Given the description of an element on the screen output the (x, y) to click on. 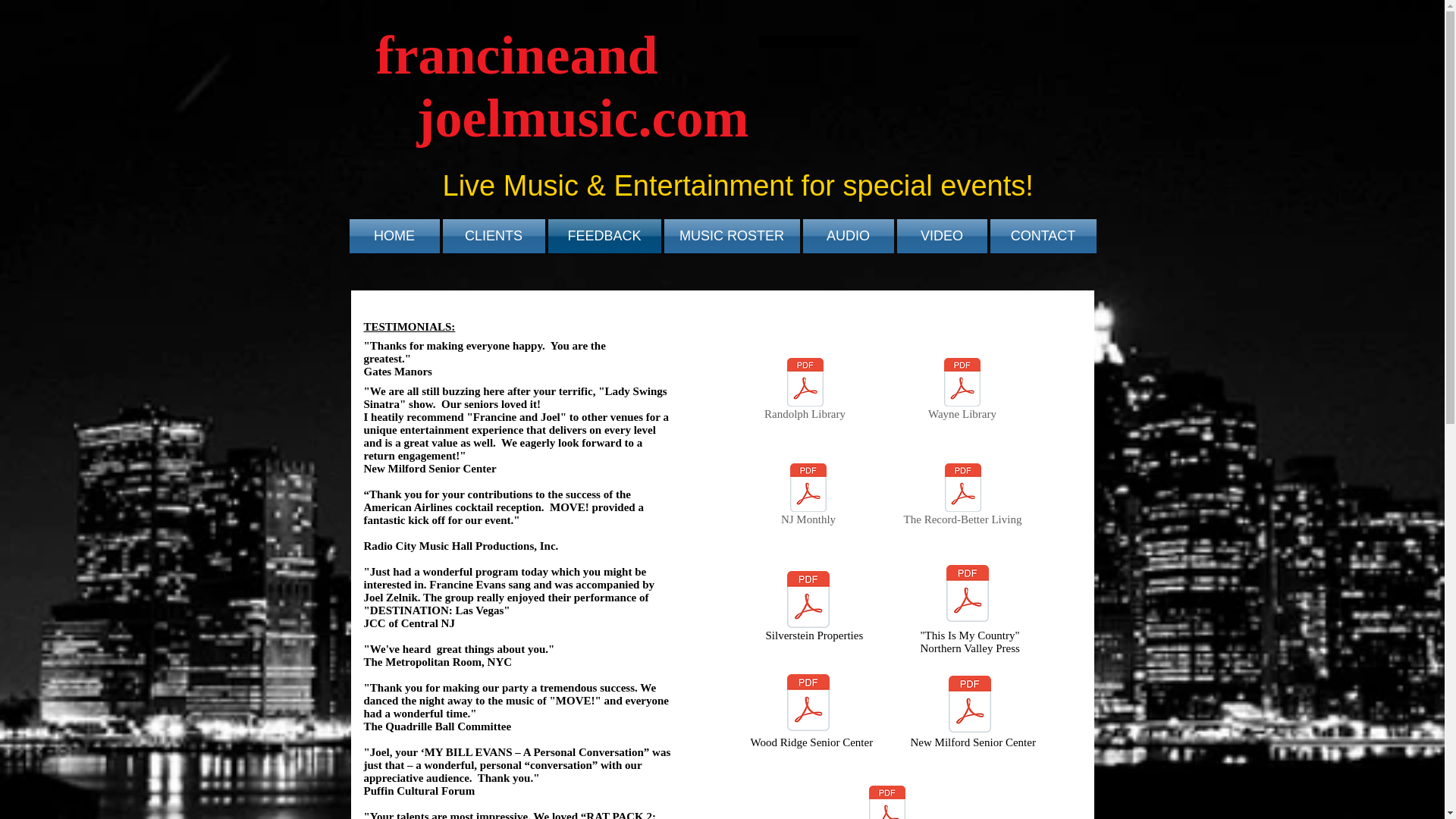
HOME (395, 236)
Randolph Library (805, 391)
Wayne Library (961, 391)
Randolph Library (805, 391)
A Musical Miracle (886, 802)
NJ Monthly  (807, 497)
CLIENTS (494, 236)
AUDIO (847, 236)
The Record-Better Living  (962, 497)
Wayne Library (961, 391)
MUSIC ROSTER (732, 236)
Referral Letter New Milford Senior Cente (969, 705)
NJ Monthly (807, 497)
CONTACT (1042, 236)
A Musical Miracle  (886, 802)
